Given the description of an element on the screen output the (x, y) to click on. 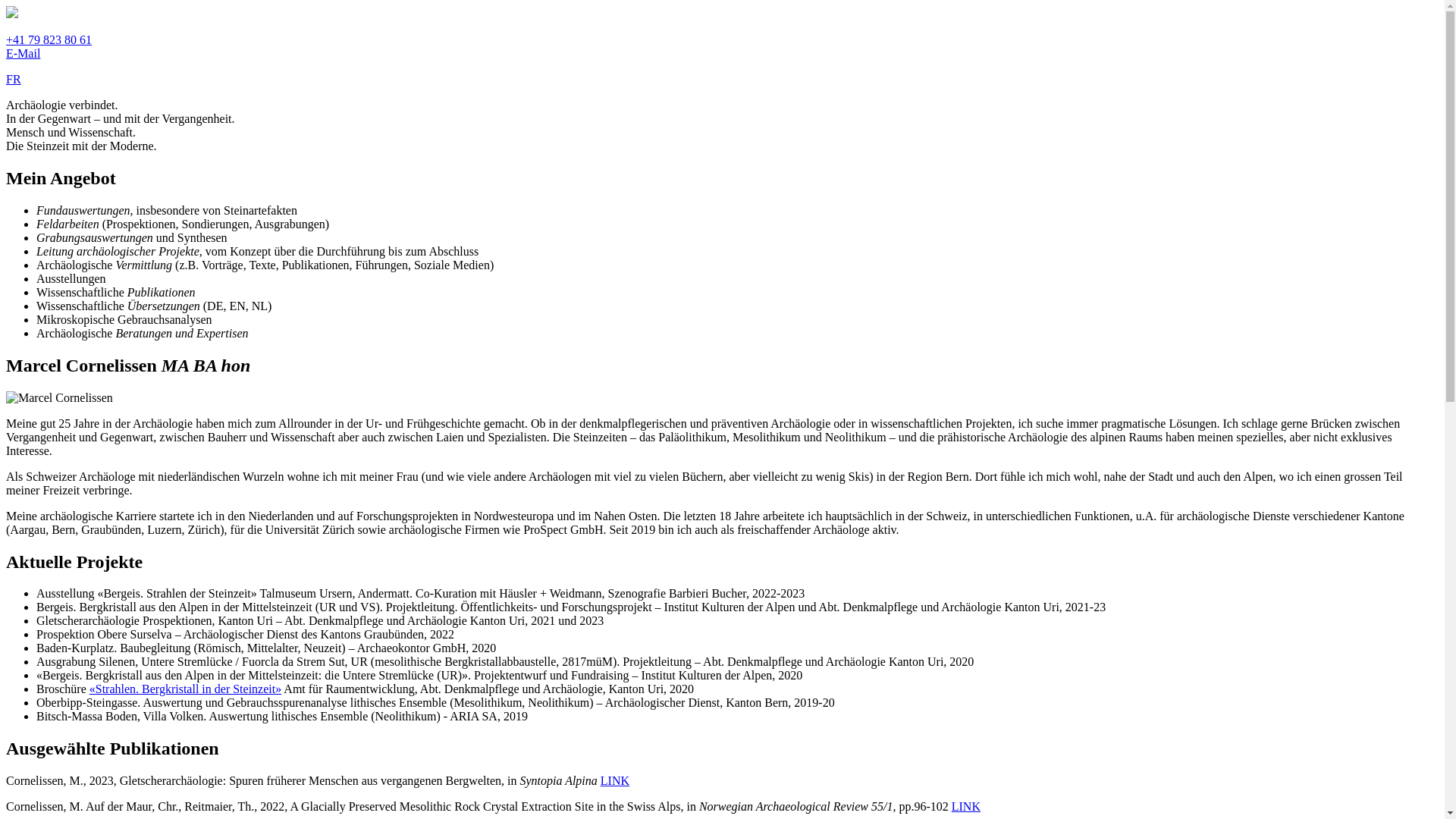
+41 79 823 80 61 Element type: text (48, 39)
E-Mail Element type: text (23, 53)
FR Element type: text (13, 78)
LINK Element type: text (965, 806)
LINK Element type: text (614, 780)
